Given the description of an element on the screen output the (x, y) to click on. 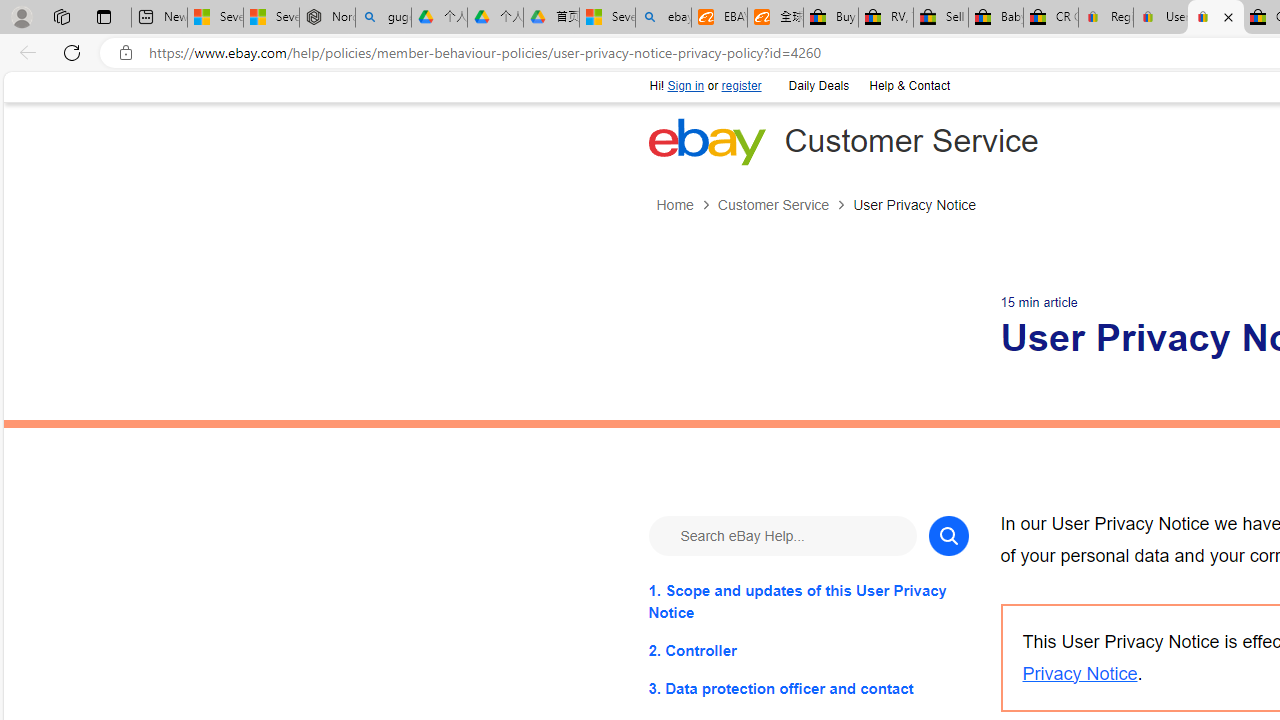
Search eBay Help... (781, 534)
Daily Deals (818, 86)
Customer Service (784, 205)
guge yunpan - Search (382, 17)
Help & Contact (909, 86)
eBay Home (706, 141)
register (740, 85)
